Given the description of an element on the screen output the (x, y) to click on. 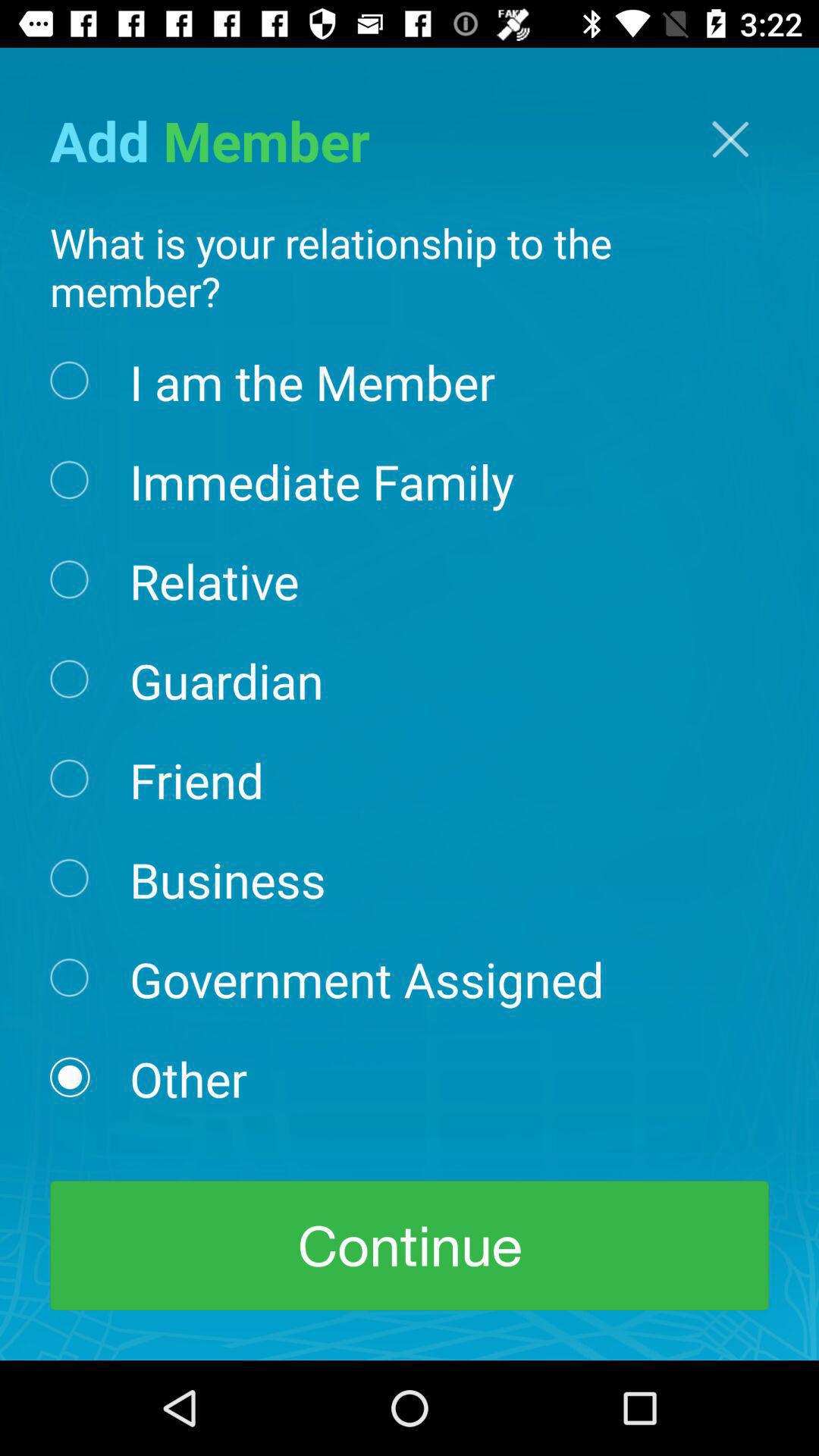
launch the item below i am the (321, 480)
